Given the description of an element on the screen output the (x, y) to click on. 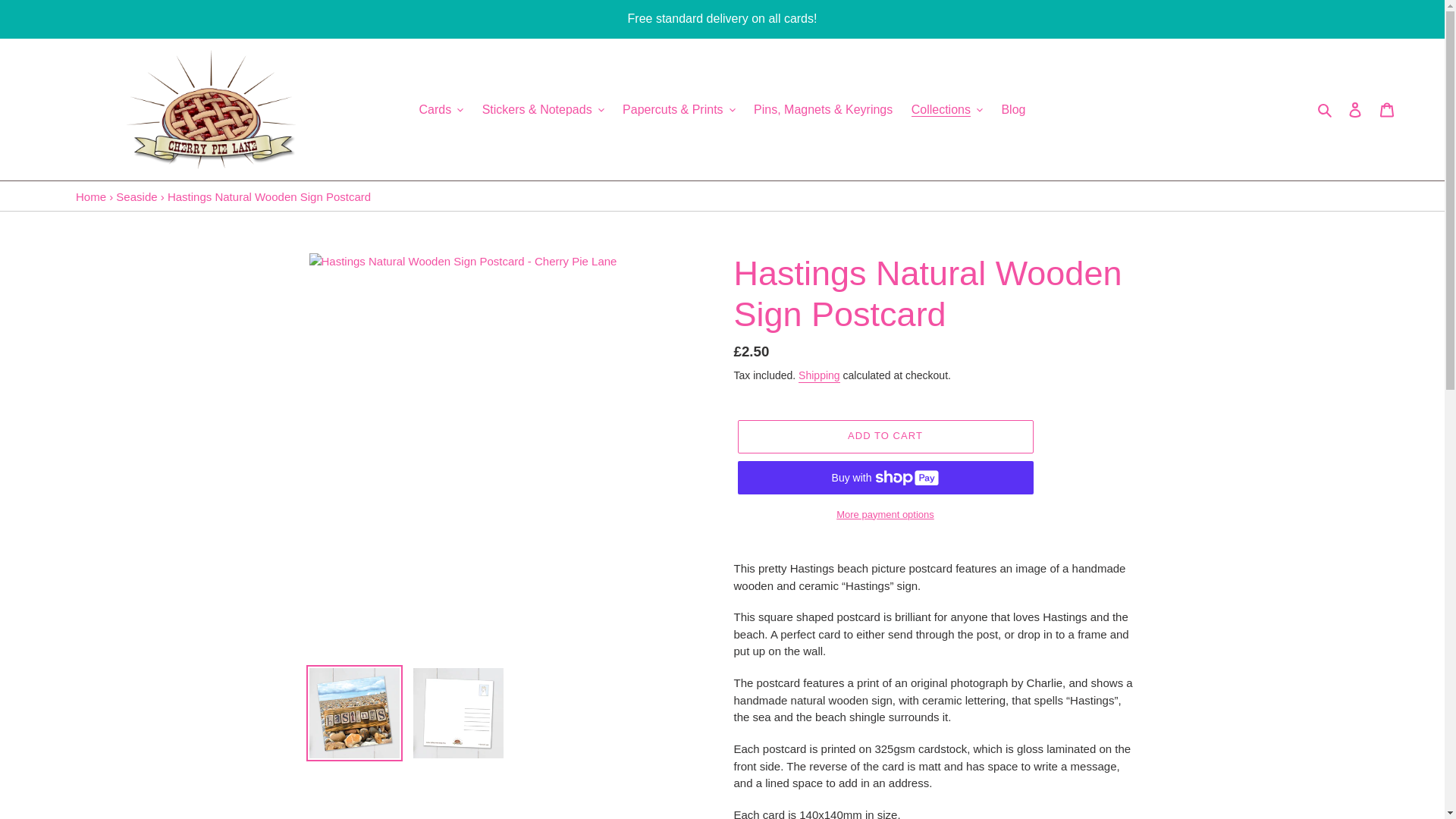
Home (90, 196)
Cards (441, 109)
Collections (947, 109)
